Given the description of an element on the screen output the (x, y) to click on. 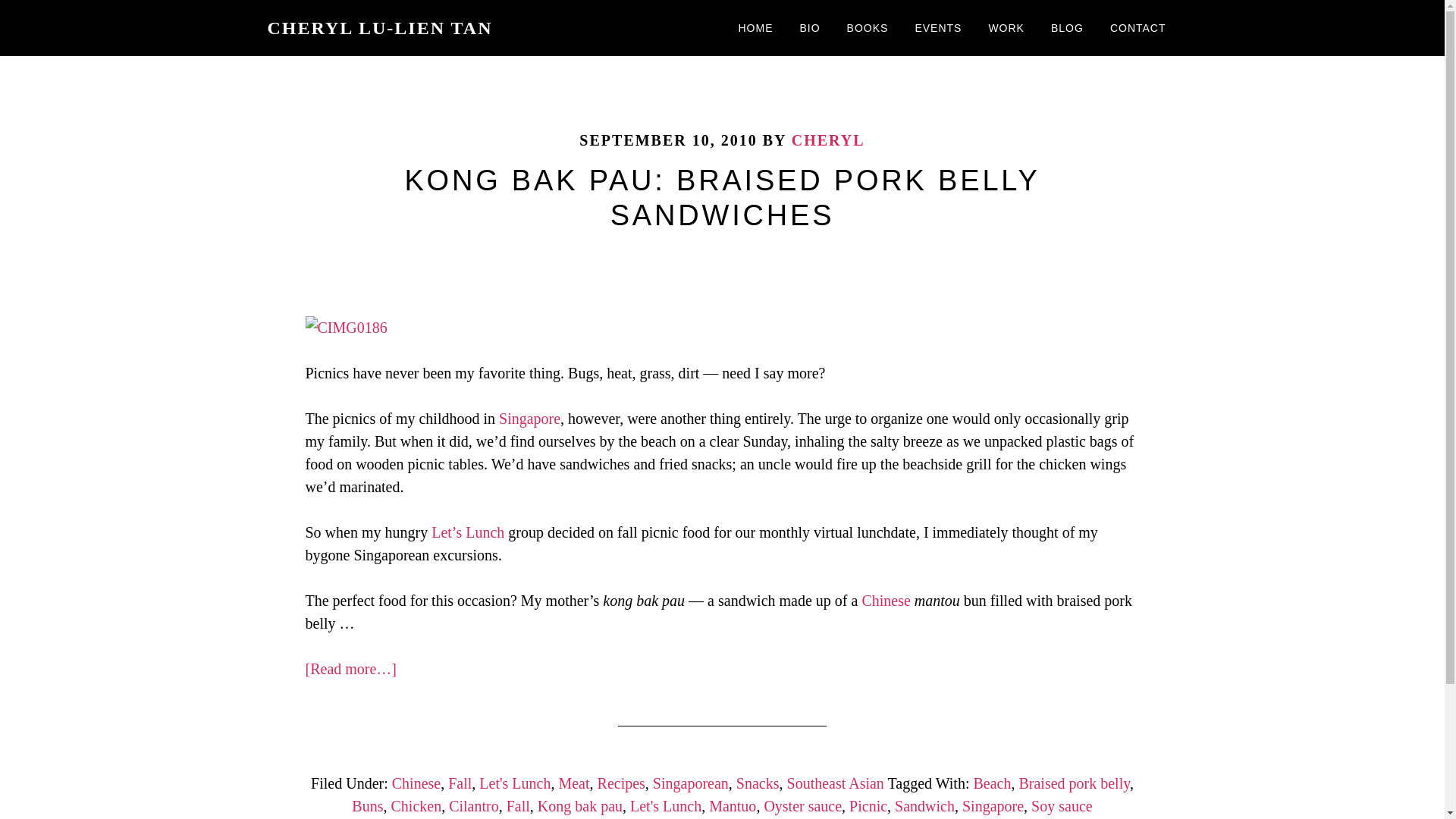
Snacks (757, 782)
Kong bak pau (580, 805)
Singaporean (690, 782)
Beach (991, 782)
Soy sauce (1061, 805)
Recipes (620, 782)
Mantuo (732, 805)
Singapore (992, 805)
CIMG0186 (345, 327)
Braised pork belly (1073, 782)
